Given the description of an element on the screen output the (x, y) to click on. 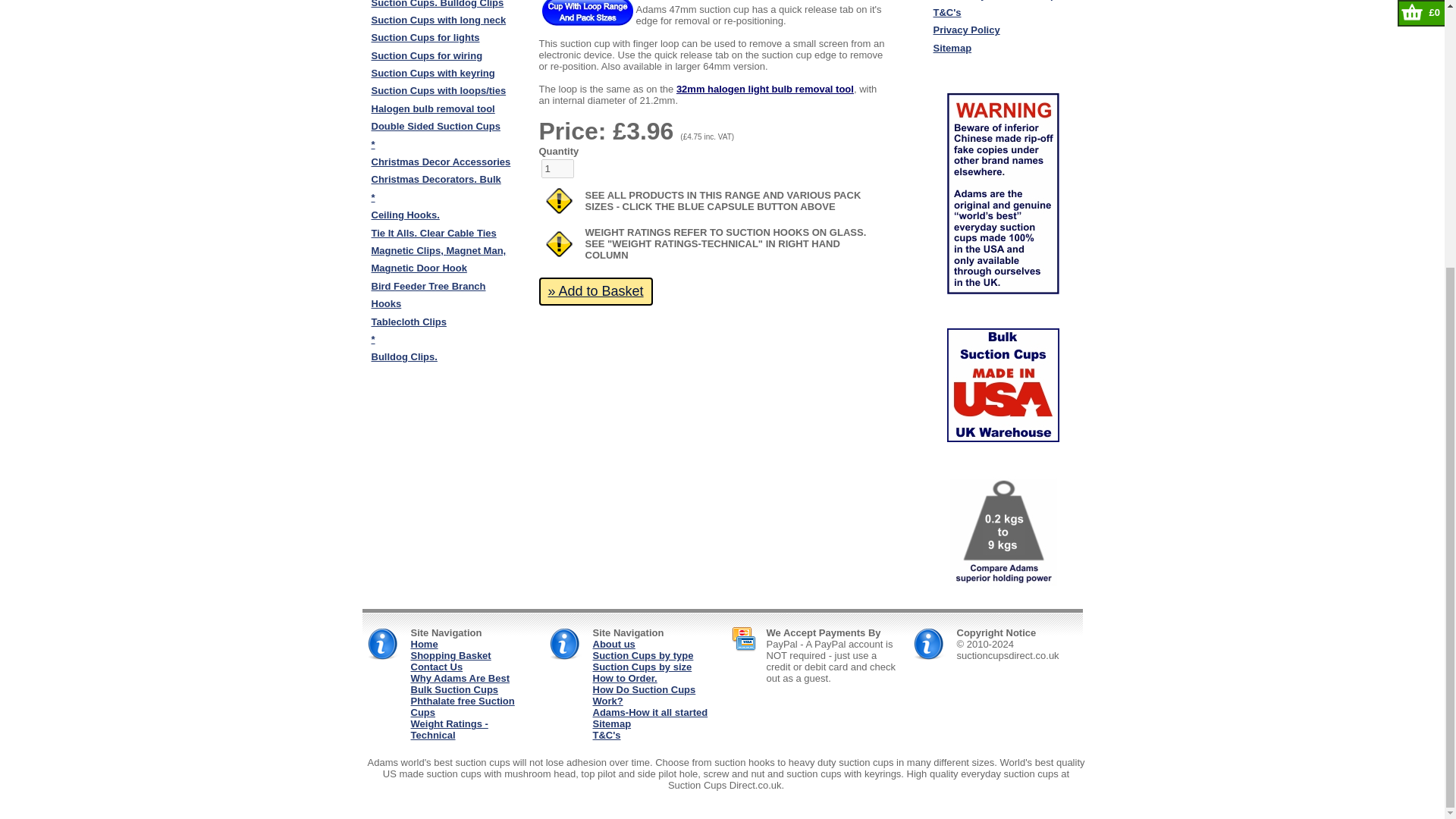
Tablecloth Clips (408, 321)
Tie It Alls. Clear Cable Ties (433, 233)
Bulldog Clips. (404, 356)
Magnetic Clips, Magnet Man, Magnetic Door Hook (438, 258)
Suction Cups for lights Suction Cups for wiring (427, 45)
Suction Cups with long neck (438, 19)
Christmas Decor Accessories (441, 161)
Bird Feeder Tree Branch Hooks (428, 294)
Suction Cups. Bulldog Clips (437, 4)
Christmas Decorators. Bulk (435, 179)
